Given the description of an element on the screen output the (x, y) to click on. 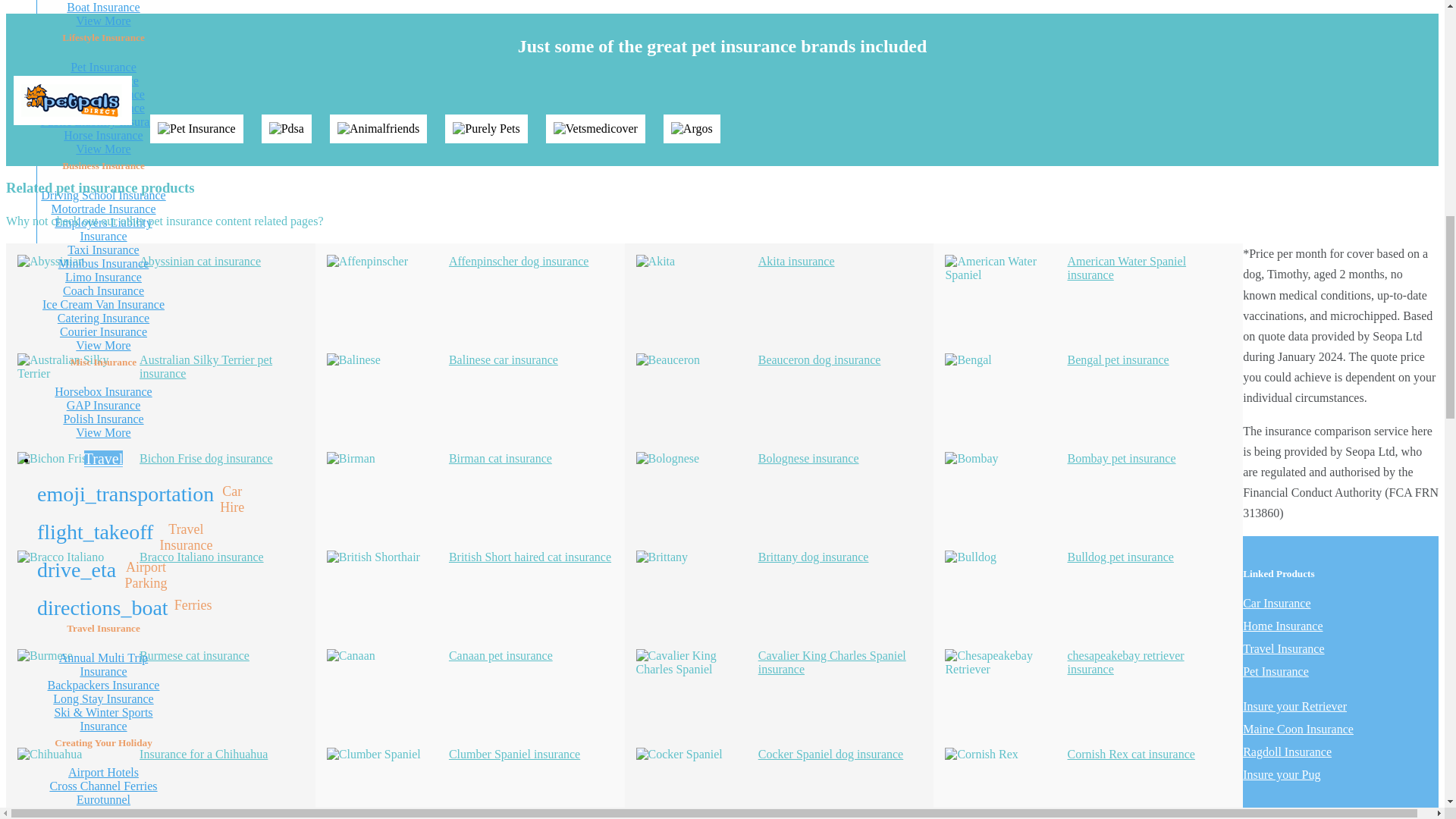
Pet Insurance (102, 66)
Public Liability Insurance (102, 121)
Boat Insurance (102, 6)
View More (103, 20)
Horse Insurance (103, 134)
Health Insurance (103, 107)
Dental Insurance (103, 93)
View More (103, 148)
Life Insurance (103, 80)
